Given the description of an element on the screen output the (x, y) to click on. 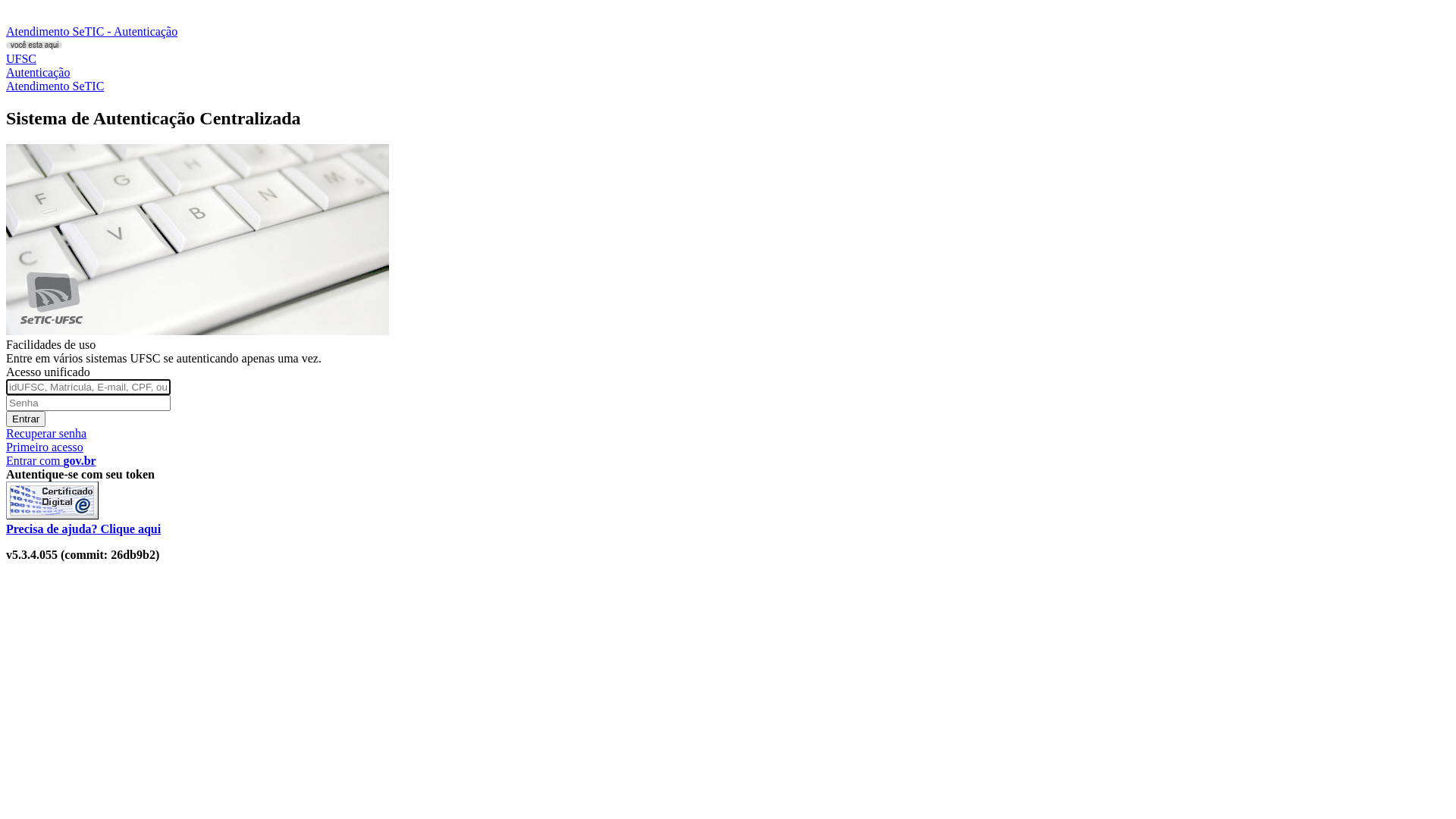
Entrar com gov.br Element type: text (51, 460)
Entrar Element type: text (25, 418)
Recuperar senha Element type: text (46, 432)
Precisa de ajuda? Clique aqui Element type: text (83, 528)
Primeiro acesso Element type: text (44, 446)
UFSC Element type: text (21, 58)
Atendimento SeTIC Element type: text (54, 85)
